Given the description of an element on the screen output the (x, y) to click on. 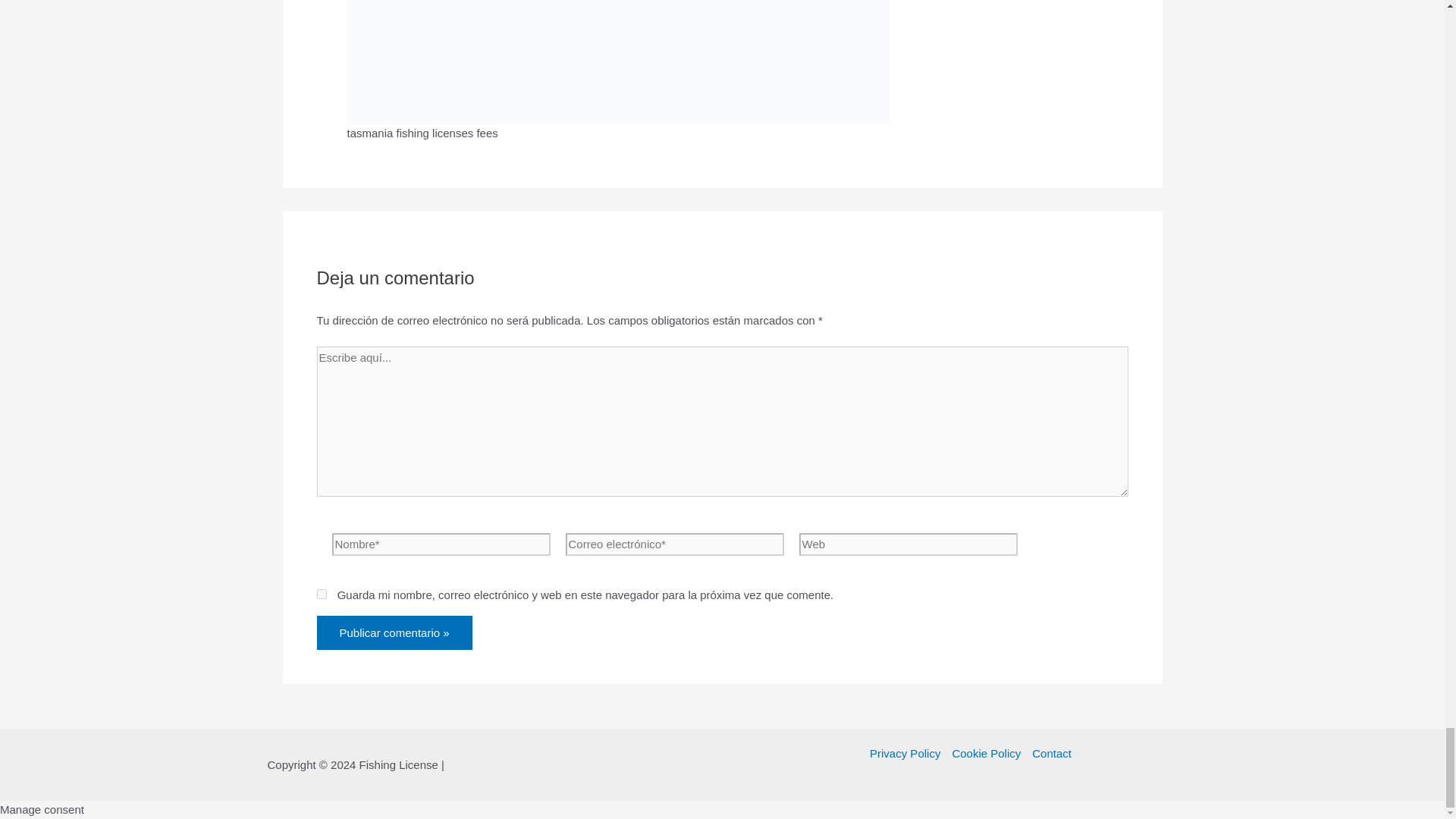
Contact (1048, 753)
Cookie Policy (986, 753)
yes (321, 593)
Privacy Policy (907, 753)
